Given the description of an element on the screen output the (x, y) to click on. 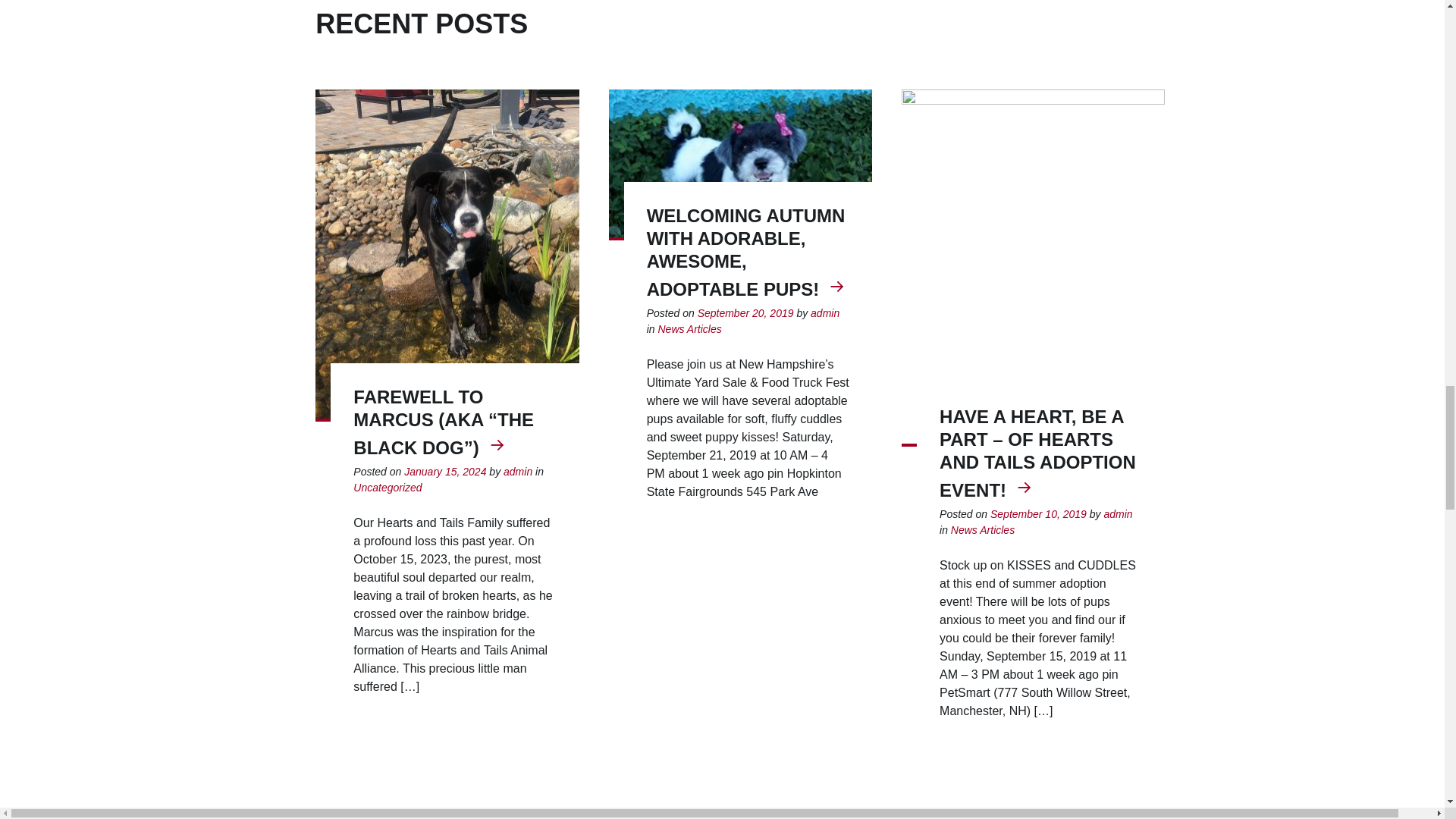
admin (517, 472)
January 15, 2024 (445, 472)
News Articles (689, 329)
WELCOMING AUTUMN WITH ADORABLE, AWESOME, ADOPTABLE PUPS! (745, 253)
September 20, 2019 (745, 314)
admin (825, 314)
Uncategorized (387, 488)
